Given the description of an element on the screen output the (x, y) to click on. 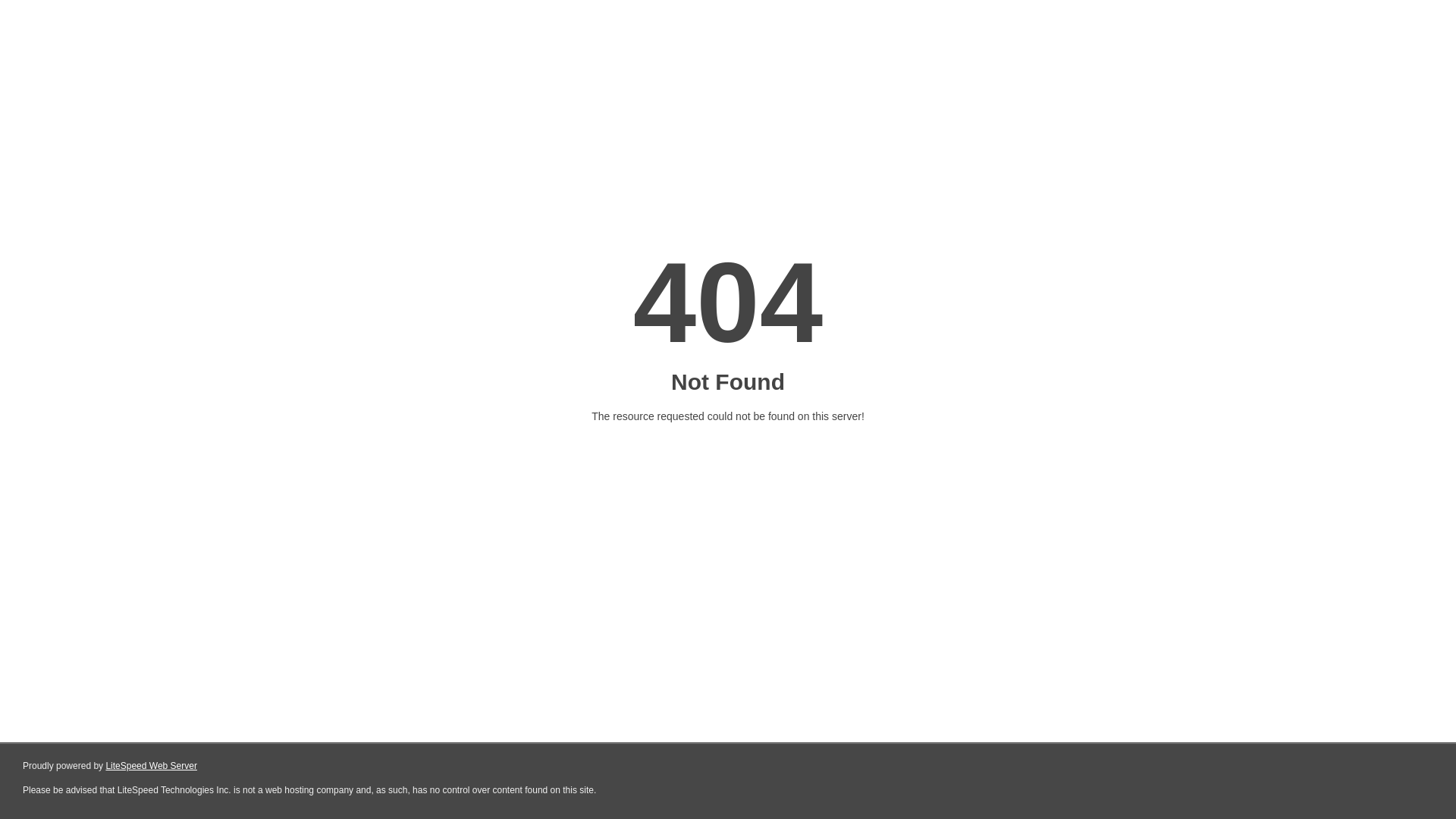
LiteSpeed Web Server Element type: text (151, 765)
